Given the description of an element on the screen output the (x, y) to click on. 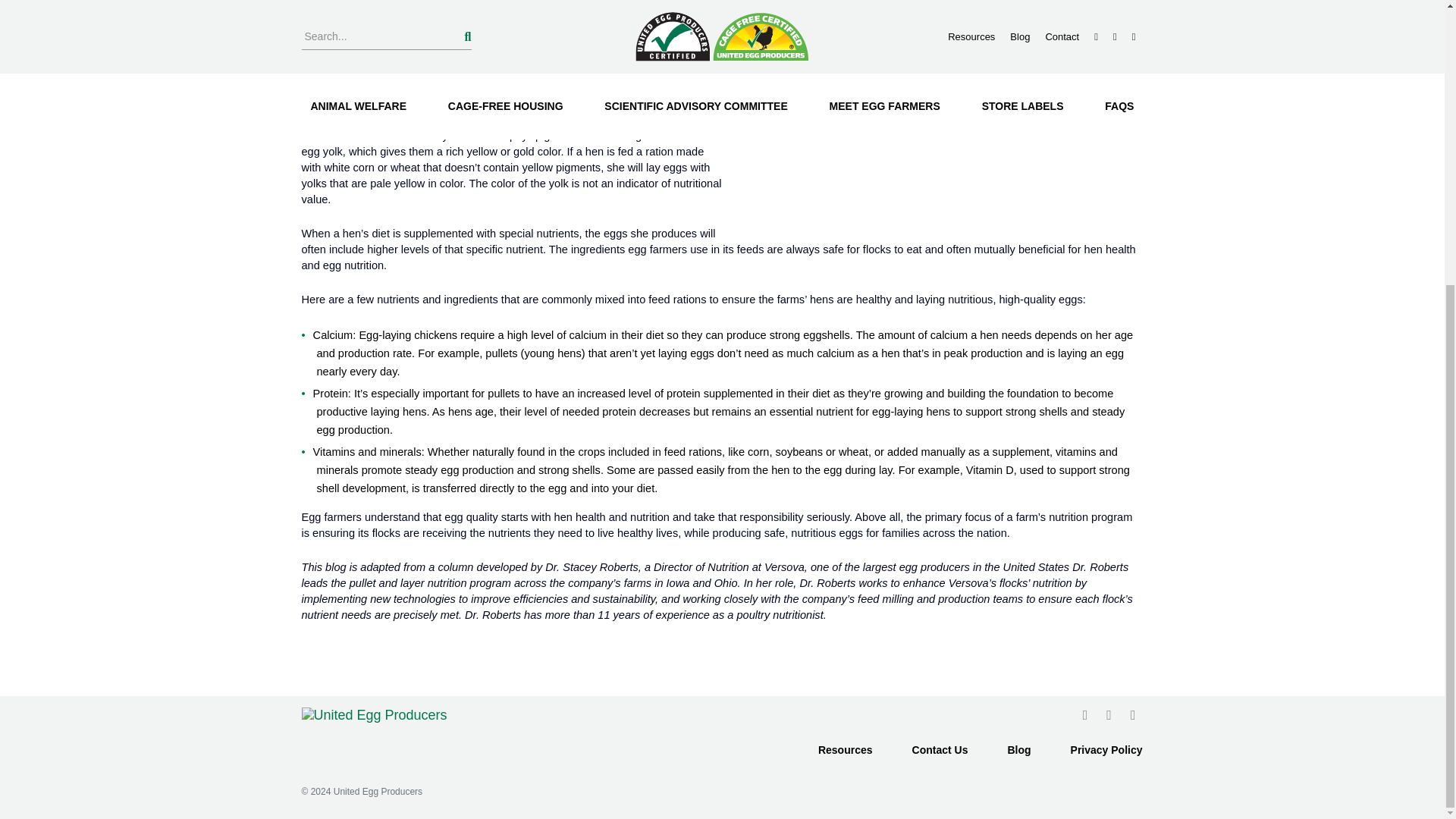
Blog (1018, 750)
Resources (845, 750)
Contact Us (939, 750)
